Given the description of an element on the screen output the (x, y) to click on. 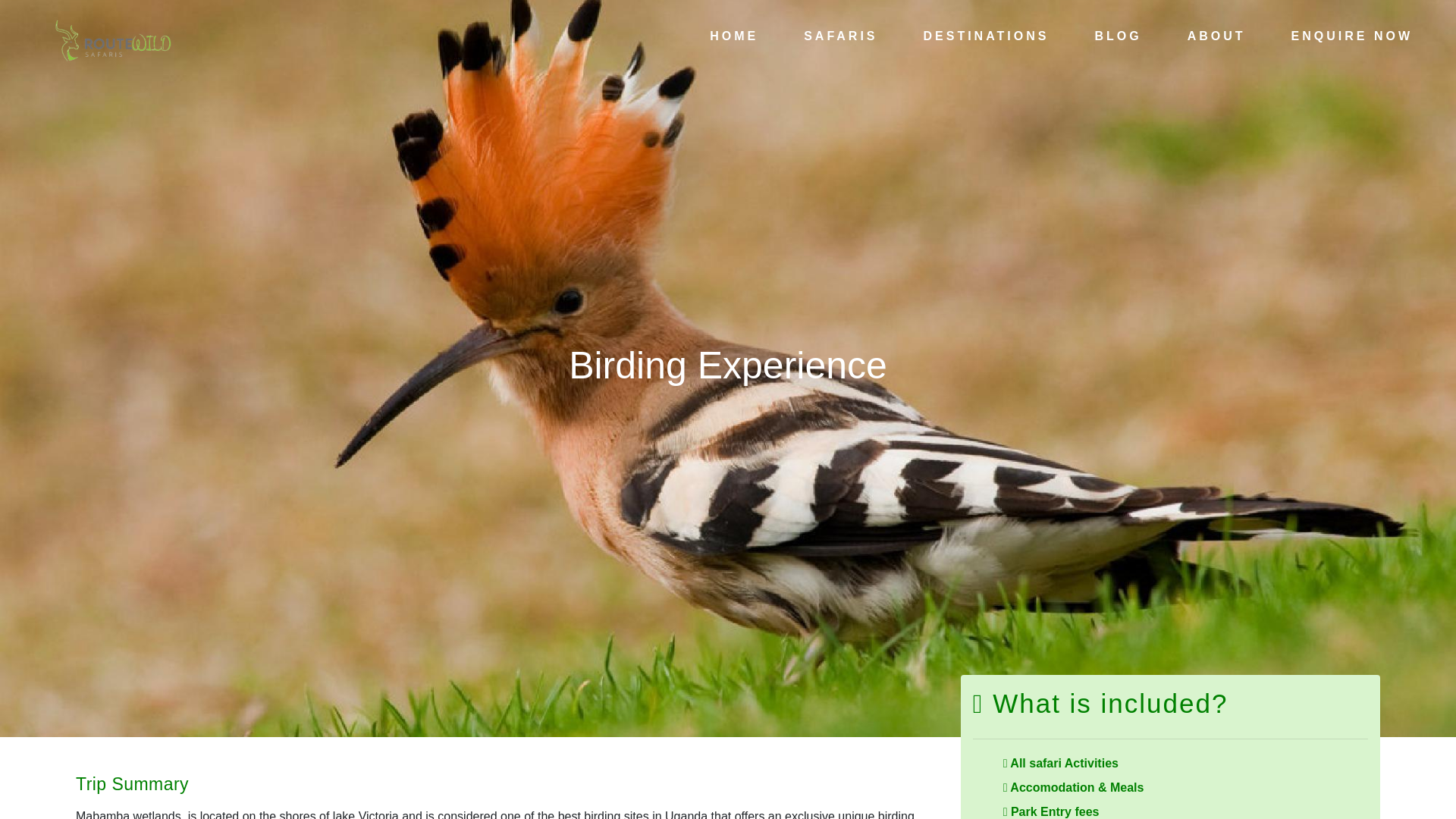
ABOUT (1217, 36)
DESTINATIONS (986, 36)
SAFARIS (840, 36)
ENQUIRE NOW (1351, 36)
